Given the description of an element on the screen output the (x, y) to click on. 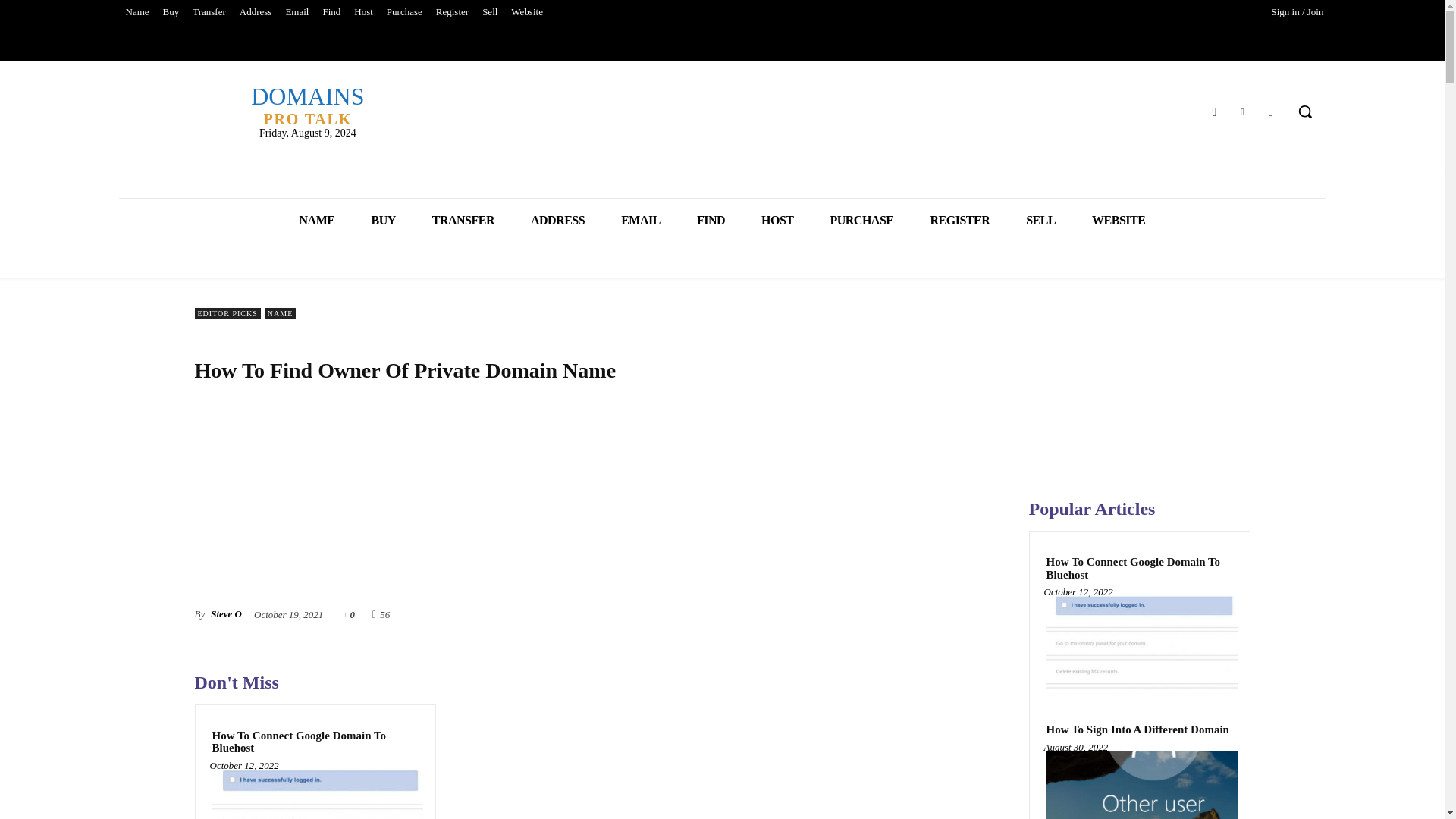
How To Connect Google Domain To Bluehost (314, 794)
Website (526, 12)
Transfer (209, 12)
Register (452, 12)
Buy (170, 12)
Email (296, 12)
Find (331, 12)
Address (255, 12)
Name (136, 12)
